Given the description of an element on the screen output the (x, y) to click on. 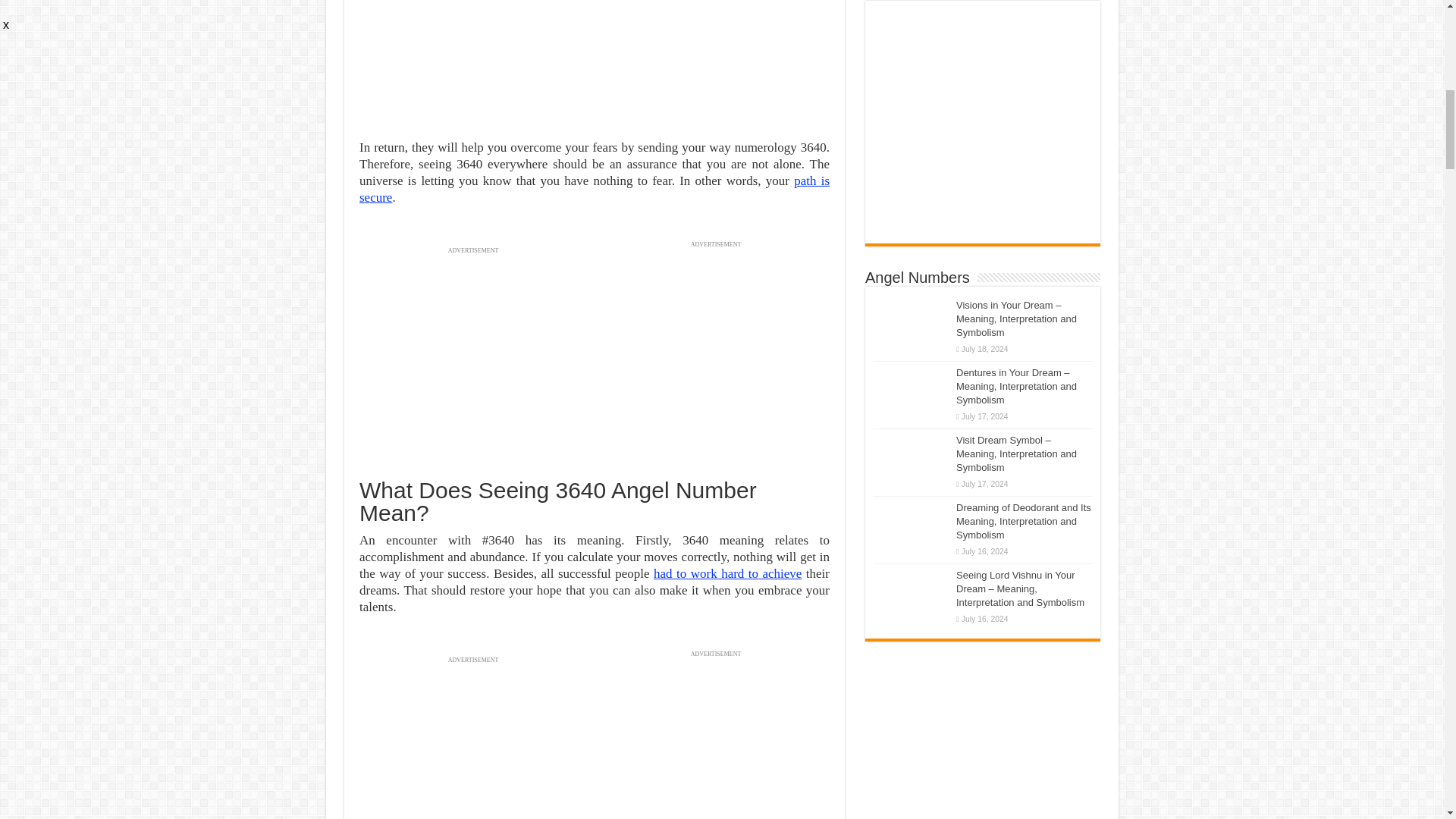
path is secure (594, 188)
had to work hard to achieve (727, 573)
